Given the description of an element on the screen output the (x, y) to click on. 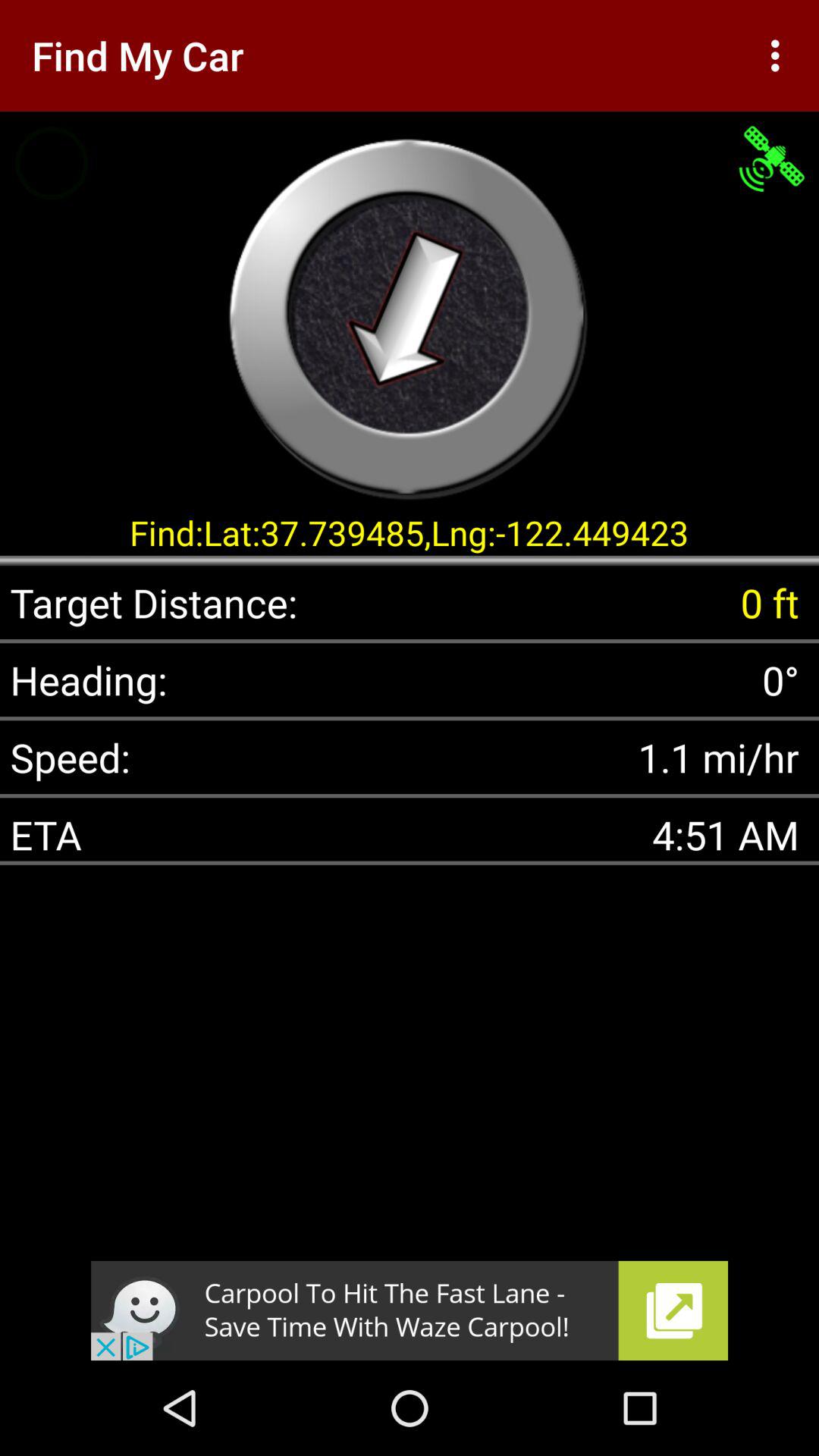
go to advertisement page (409, 1310)
